Given the description of an element on the screen output the (x, y) to click on. 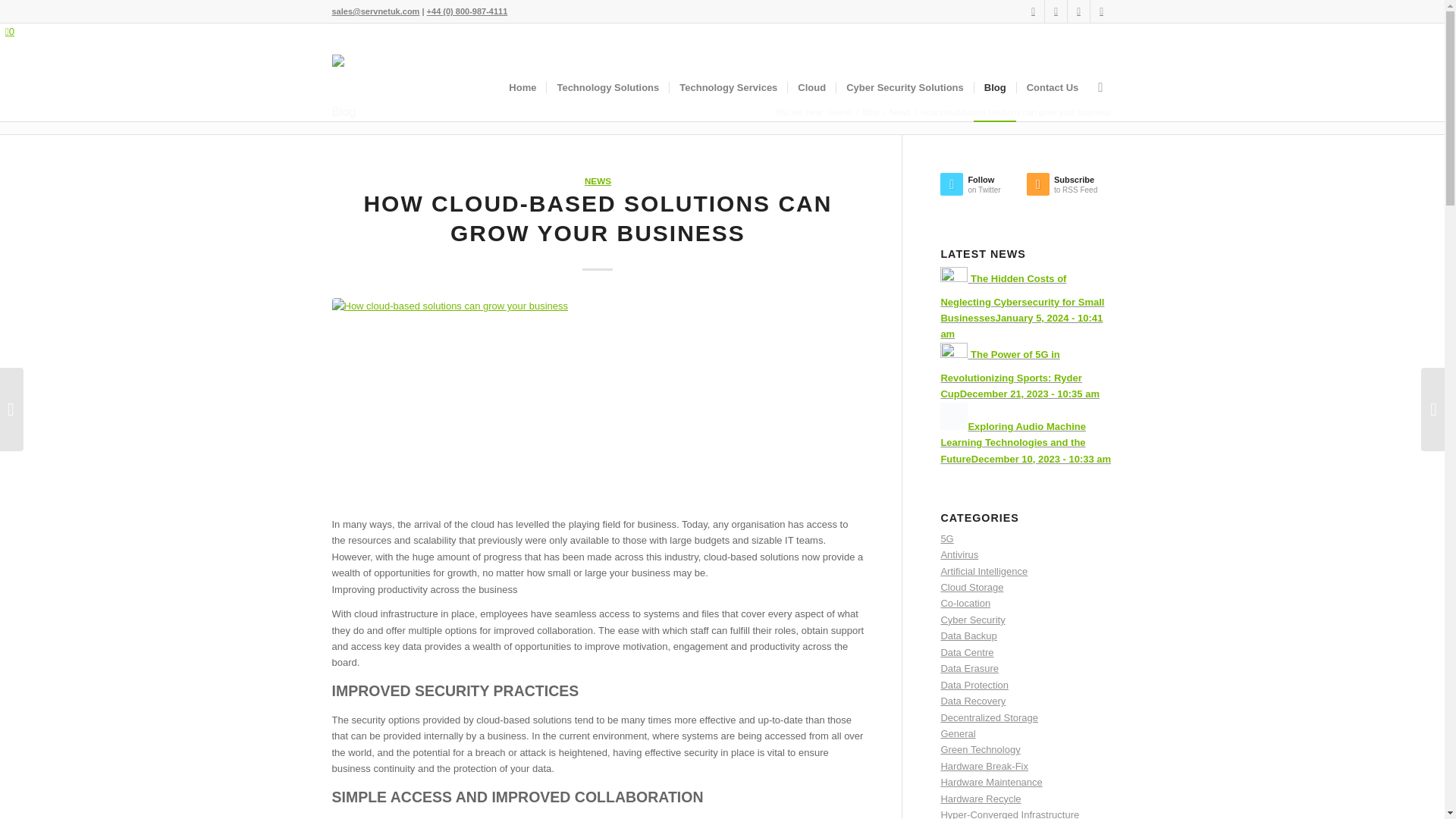
Permanent Link: Blog (343, 111)
Contact Us (1052, 87)
Cyber Security Solutions (904, 87)
Servnet (840, 112)
Technology Solutions (607, 87)
Technology Services (727, 87)
Facebook (1033, 11)
how-cloud-based-solutions-can-grow-your-business (597, 399)
Blog (870, 112)
LinkedIn (1078, 11)
